Given the description of an element on the screen output the (x, y) to click on. 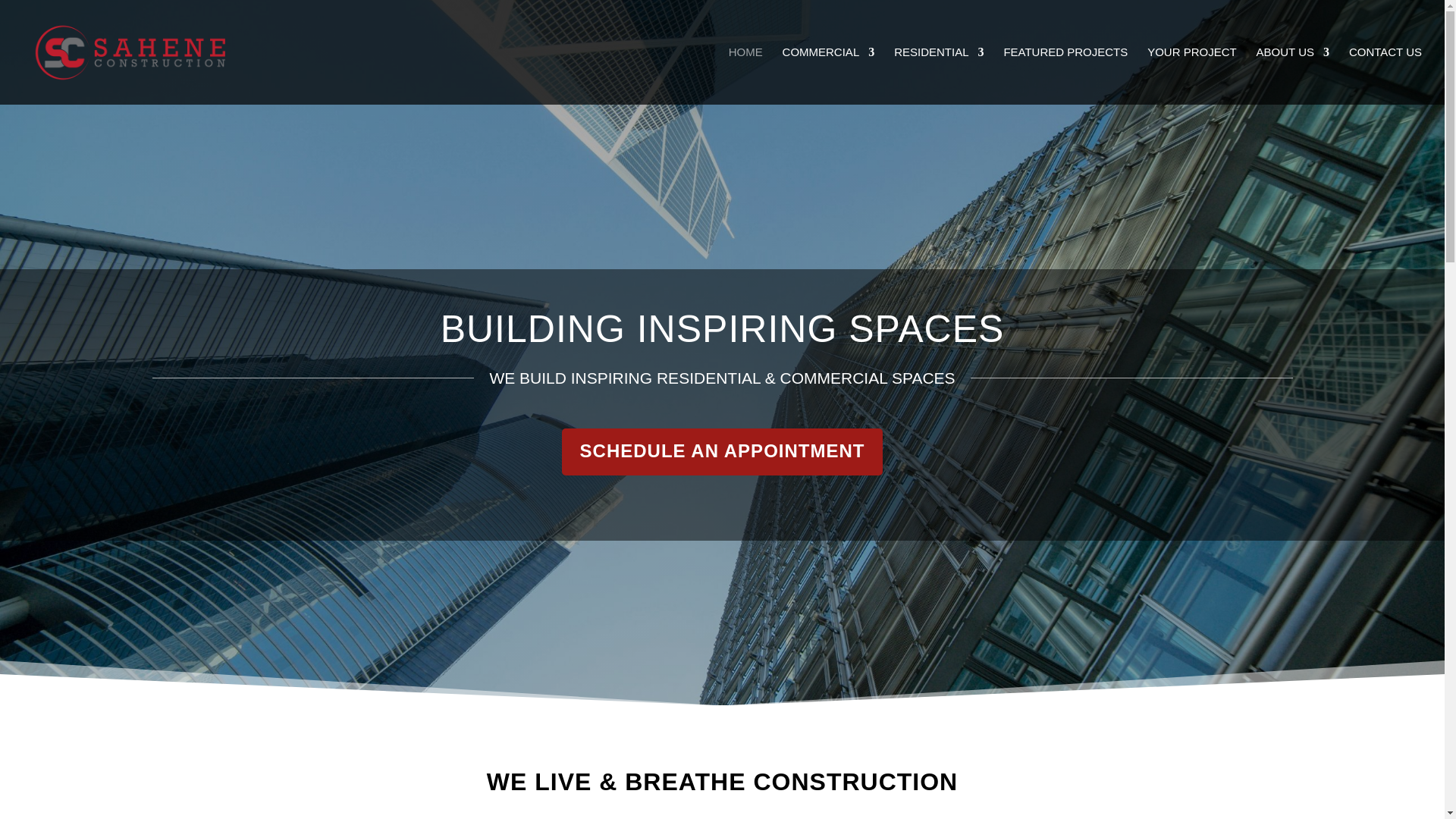
COMMERCIAL (829, 75)
ABOUT US (1292, 75)
RESIDENTIAL (938, 75)
SCHEDULE AN APPOINTMENT (722, 451)
FEATURED PROJECTS (1064, 75)
HOME (745, 75)
CONTACT US (1385, 75)
YOUR PROJECT (1191, 75)
